Given the description of an element on the screen output the (x, y) to click on. 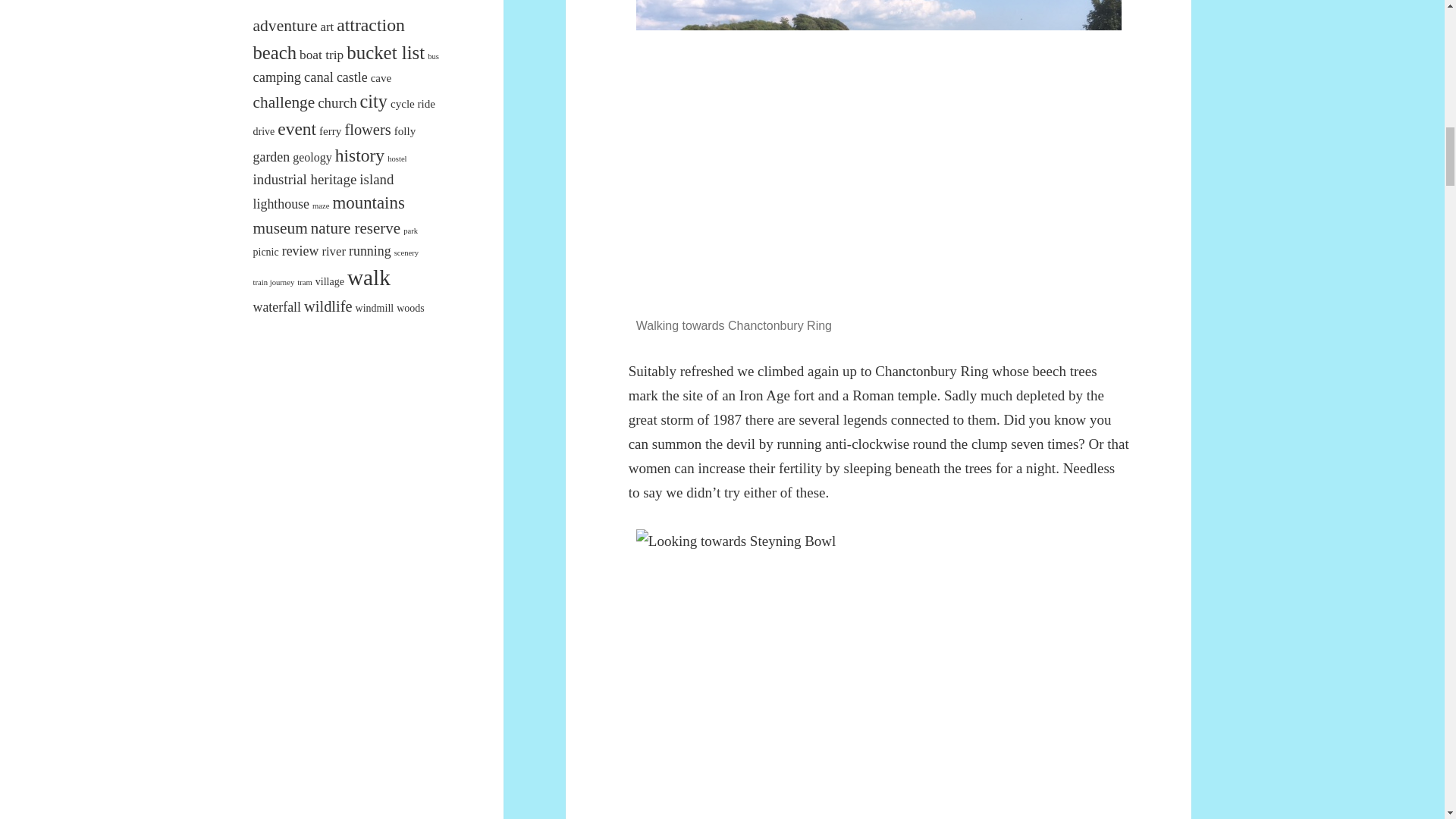
city (373, 100)
drive (264, 131)
attraction (370, 25)
cave (381, 78)
church (336, 102)
ferry (329, 131)
bus (433, 56)
boat trip (321, 54)
canal (318, 77)
challenge (284, 102)
bucket list (385, 52)
adventure (285, 25)
camping (277, 77)
castle (352, 77)
cycle ride (412, 103)
